Given the description of an element on the screen output the (x, y) to click on. 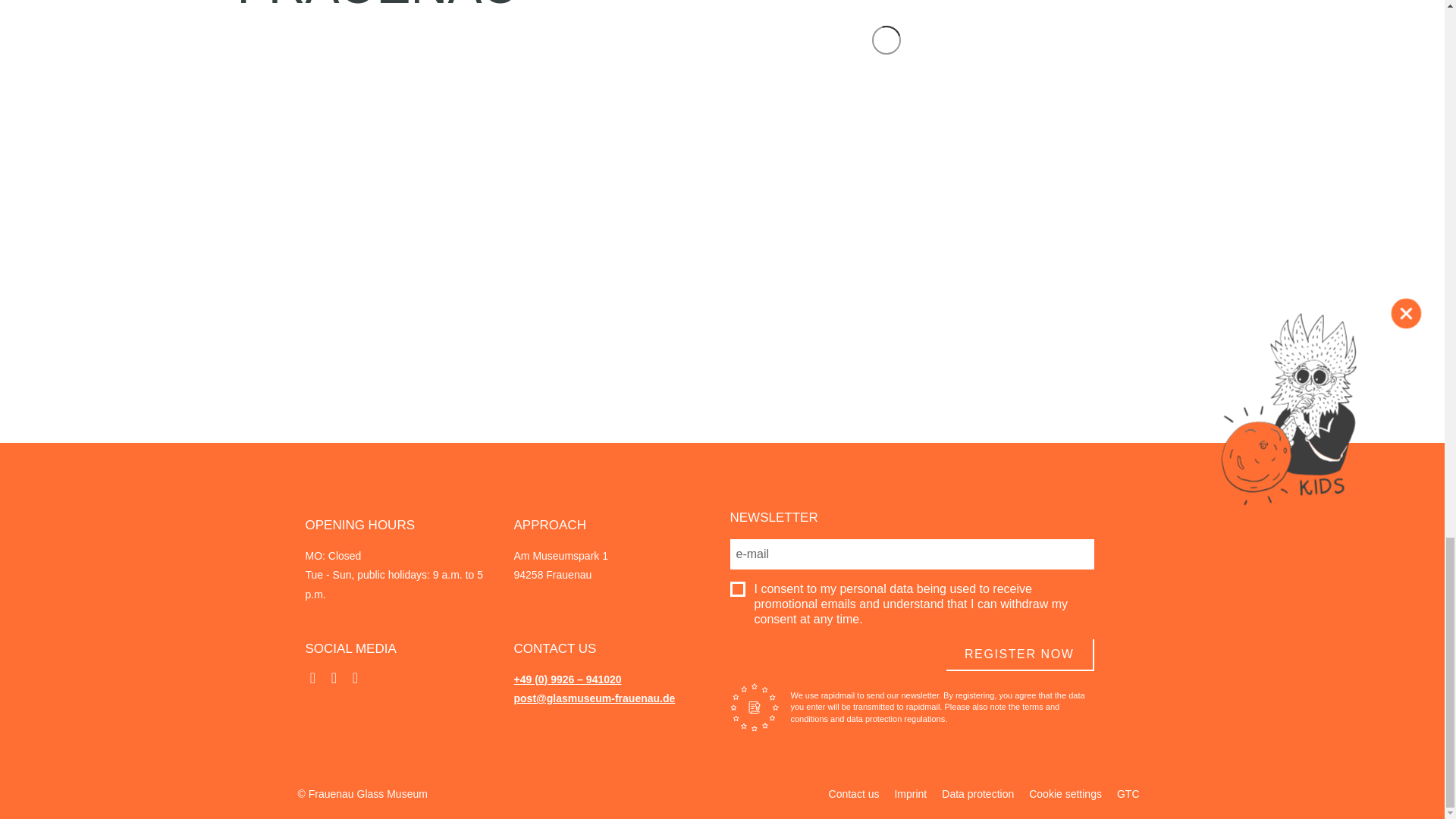
GTC (1128, 793)
REGISTER NOW (1020, 654)
Contact us (853, 793)
Data protection (978, 793)
Imprint (910, 793)
Cookie settings (1065, 793)
